Given the description of an element on the screen output the (x, y) to click on. 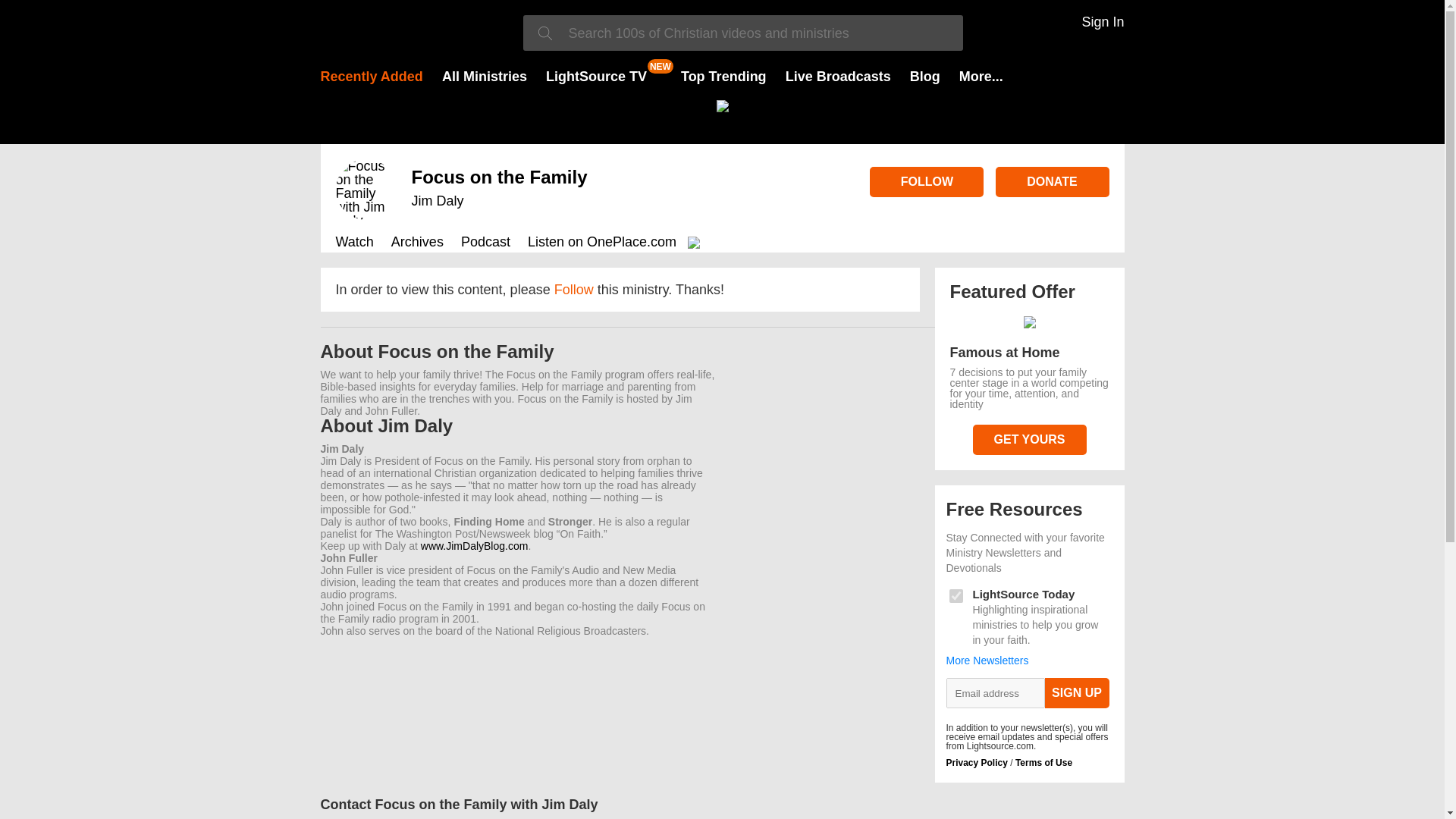
Follow (574, 289)
SIGN UP (1077, 693)
Recently Added (371, 76)
Focus on the Family (498, 177)
FOLLOW (926, 182)
More... (981, 76)
Podcast (486, 243)
7291 (955, 595)
Top Trending (724, 76)
Terms of Use (1042, 762)
Jim Daly (436, 200)
All Ministries (484, 76)
Privacy Policy (976, 762)
Listen on OnePlace.com (615, 243)
Watch (353, 243)
